Given the description of an element on the screen output the (x, y) to click on. 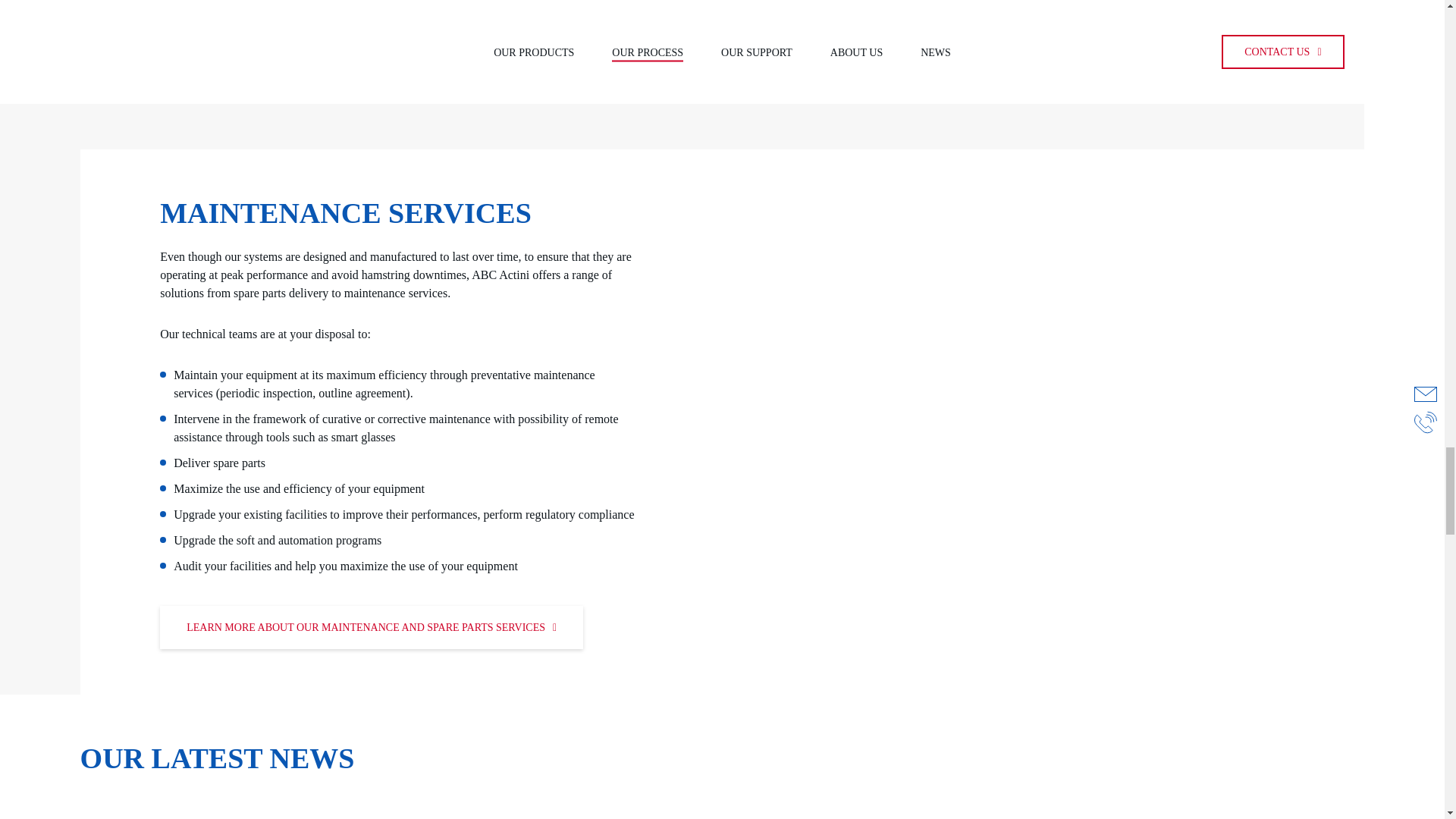
LEARN MORE ABOUT OUR MAINTENANCE AND SPARE PARTS SERVICES (371, 627)
